Given the description of an element on the screen output the (x, y) to click on. 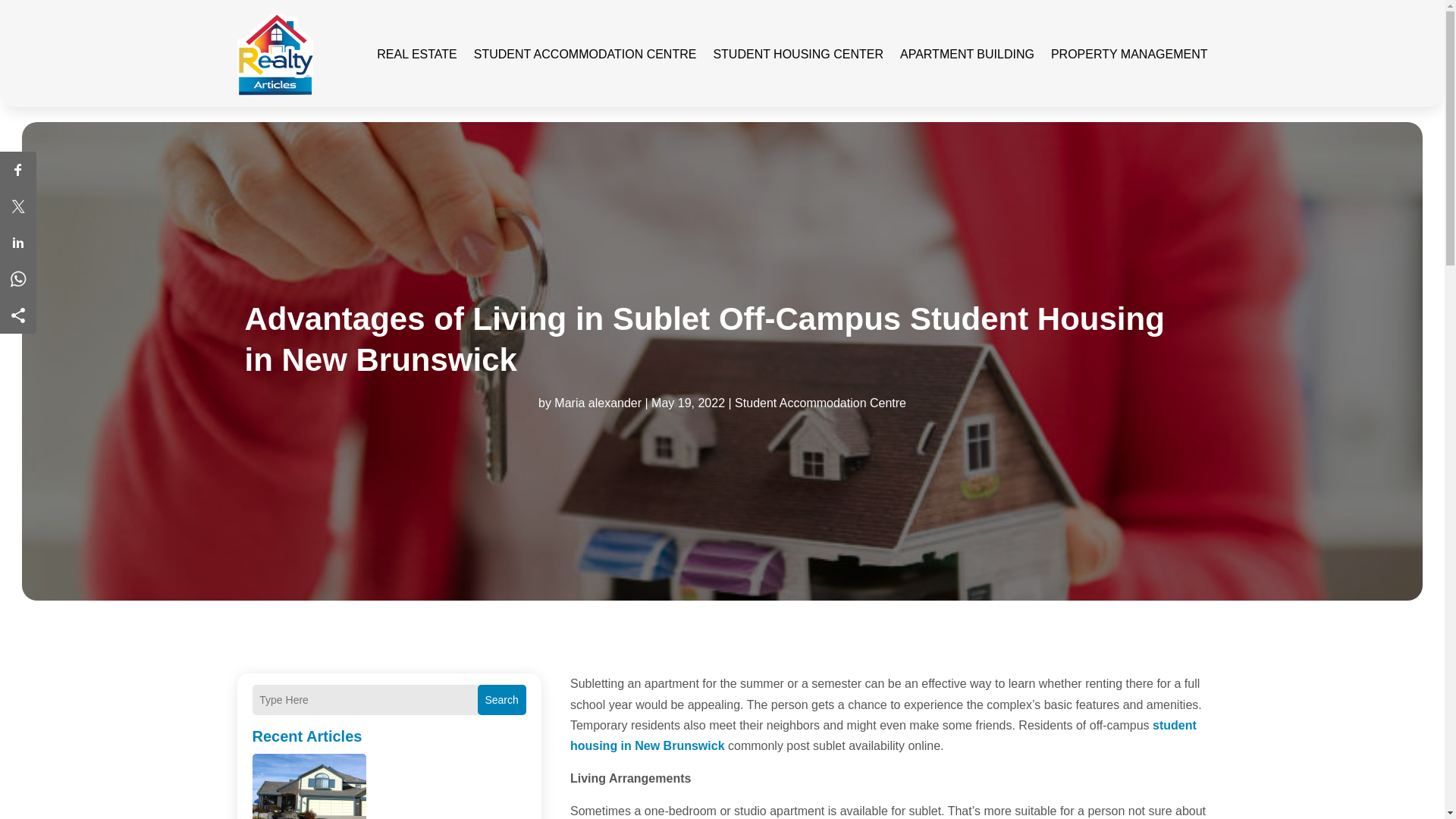
STUDENT ACCOMMODATION CENTRE (585, 54)
Posts by Maria alexander (598, 402)
REAL ESTATE (417, 54)
APARTMENT BUILDING (966, 54)
STUDENT HOUSING CENTER (798, 54)
Maria alexander (598, 402)
Search (501, 699)
PROPERTY MANAGEMENT (1129, 54)
Student Accommodation Centre (820, 402)
